Given the description of an element on the screen output the (x, y) to click on. 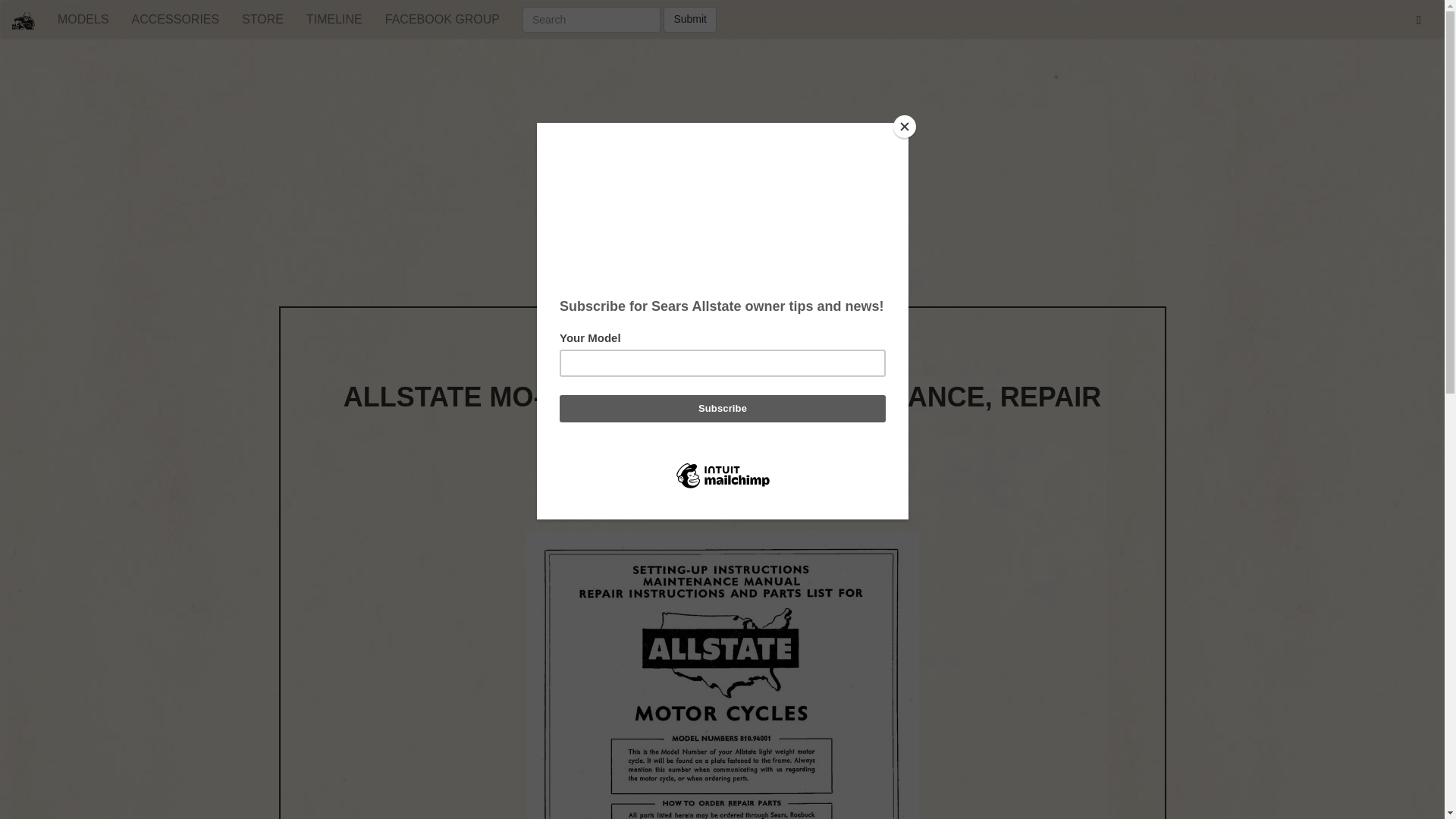
ACCESSORIES (175, 19)
Submit (689, 19)
Share this manual on Facebook (721, 500)
FACEBOOK GROUP (442, 19)
Browse All Puch Manuals (721, 354)
STORE (262, 19)
MODELS (83, 19)
TIMELINE (334, 19)
Share this manual on Facebook (721, 499)
